Given the description of an element on the screen output the (x, y) to click on. 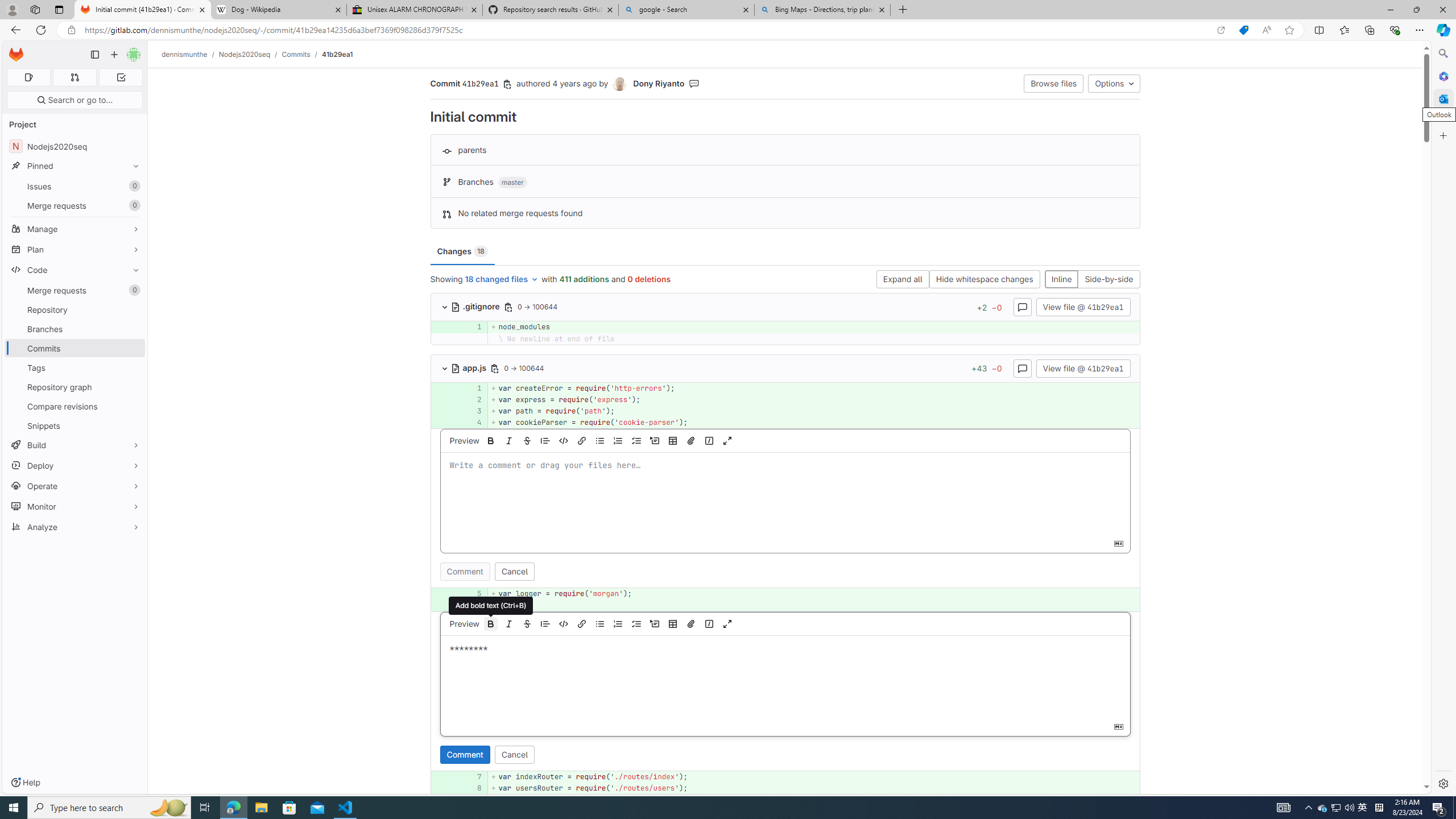
5 (472, 594)
Add a quick action (708, 623)
Class: s12 (429, 787)
+ var createError = require('http-errors');  (813, 387)
Side-by-side (1108, 279)
Dony Riyanto's avatar (620, 83)
Deploy (74, 465)
+ var express = require('express');  (813, 399)
Dog - Wikipedia (277, 9)
AutomationID: 4a68969ef8e858229267b842dedf42ab5dde4d50_0_7 (785, 776)
Inline (1060, 279)
2 (472, 399)
